Given the description of an element on the screen output the (x, y) to click on. 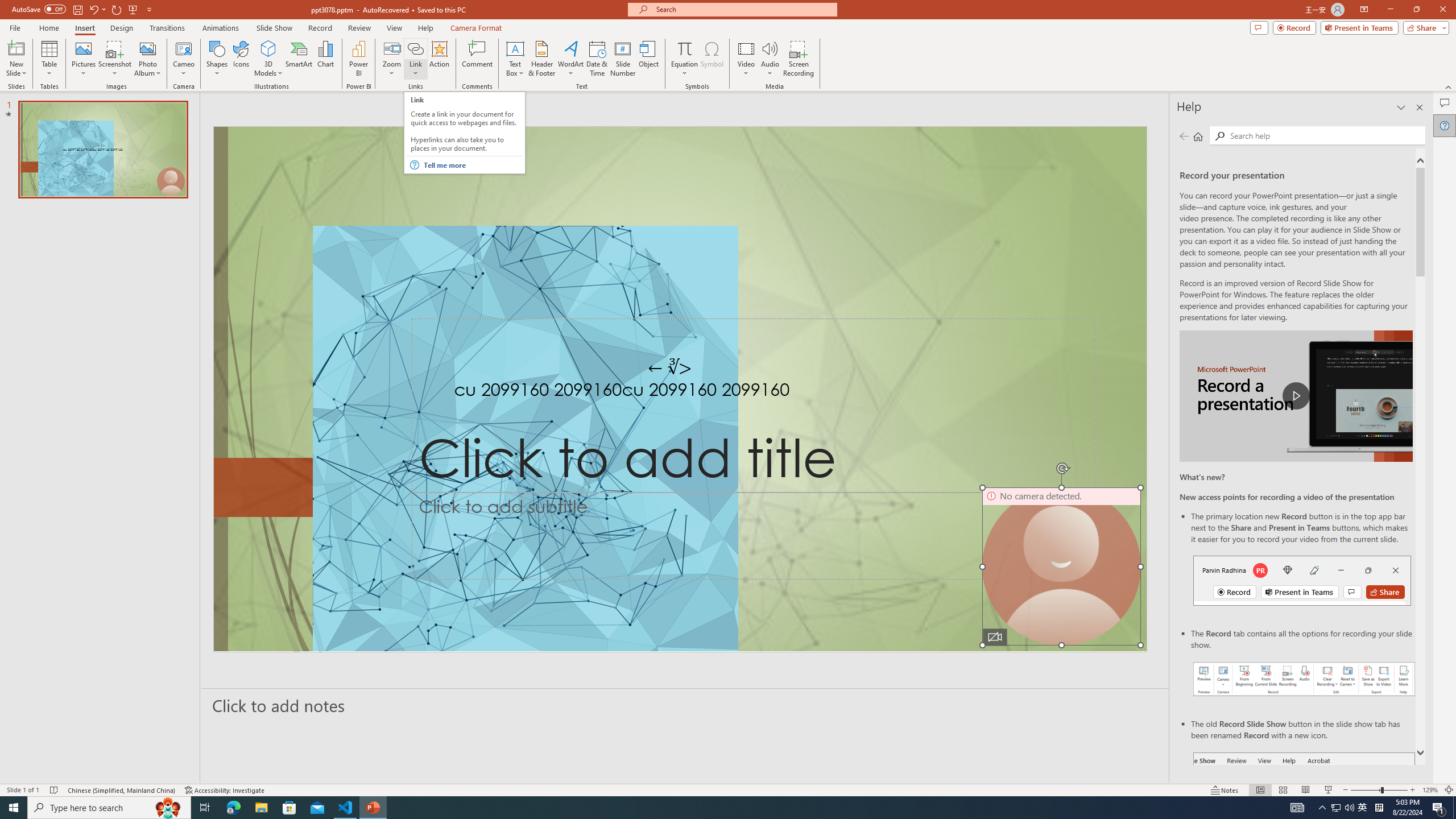
Comments (1444, 102)
Chart... (325, 58)
Equation (683, 48)
Table (49, 58)
Header & Footer... (541, 58)
Icons (240, 58)
Pictures (83, 58)
SmartArt... (298, 58)
Zoom Out (1365, 790)
Comments (1259, 27)
Record button in top bar (1301, 580)
New Photo Album... (147, 48)
Ribbon Display Options (1364, 9)
